Given the description of an element on the screen output the (x, y) to click on. 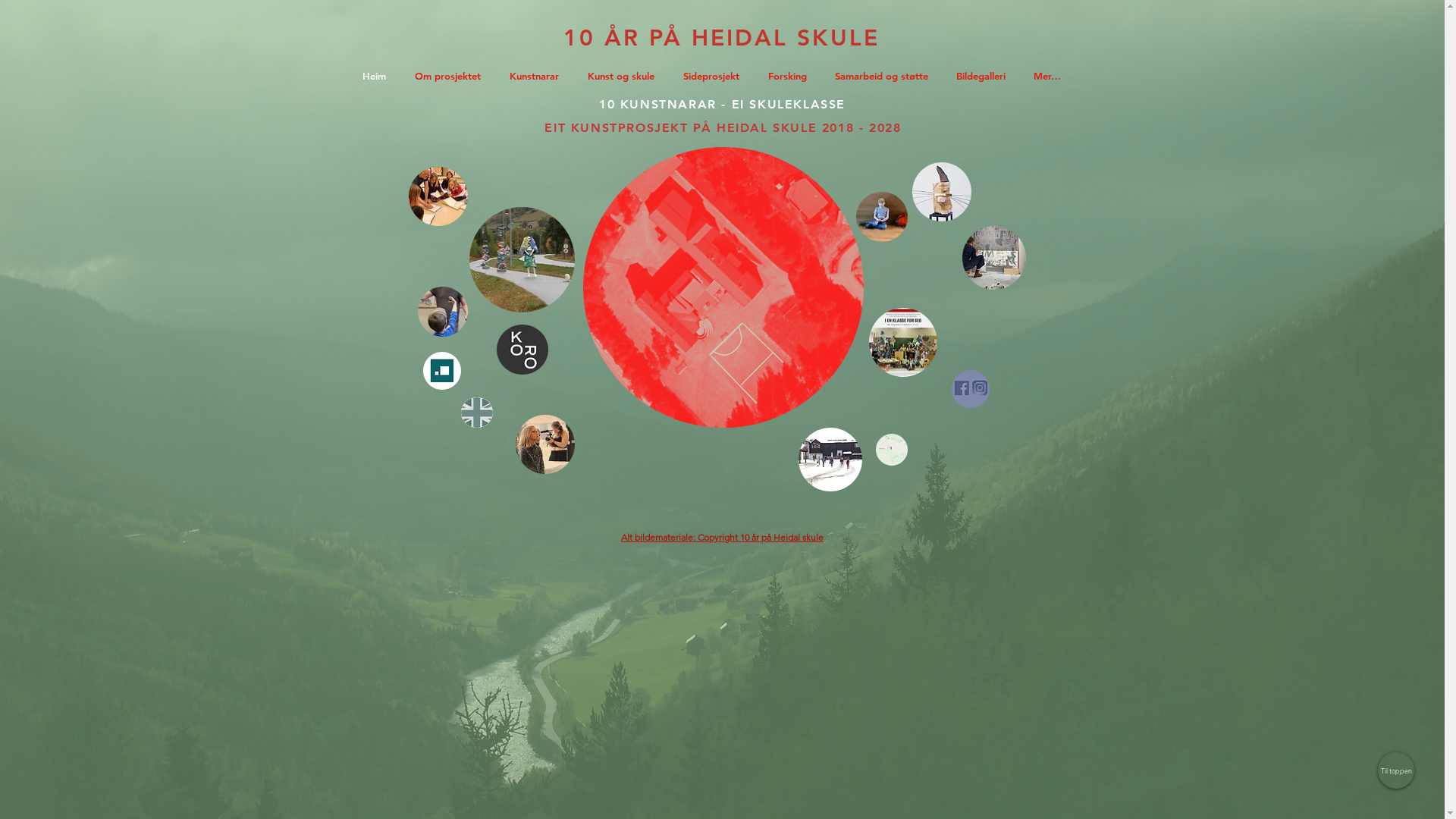
Loggar Element type: hover (442, 311)
Kunstnarar. Gisle Harr Element type: hover (880, 216)
English Element type: hover (476, 412)
Forskning Element type: hover (442, 370)
Kunstnar. Anna Sigmond Gudmundsdottir Element type: hover (993, 257)
Kunst og skule Element type: text (623, 75)
Kunst og skule Element type: hover (437, 195)
Kunstnarar. Anna Daniell Element type: hover (940, 191)
Kunstnarar Element type: text (536, 75)
Sideprosjekt Element type: text (713, 75)
Om prosjektet Element type: text (450, 75)
Heidal skule Element type: hover (829, 459)
Kontakt Element type: hover (890, 449)
Omtaler Element type: hover (903, 341)
Sosiale media Element type: hover (969, 388)
Heim Element type: text (376, 75)
Til toppen Element type: text (1395, 770)
Bildegalleri Element type: text (983, 75)
Bildegalleri Element type: hover (521, 259)
18 - 2028 Element type: text (868, 127)
Sideprosjekt Element type: hover (544, 443)
Forsking Element type: text (789, 75)
Om prosjektet. Skulen. Element type: hover (722, 287)
